Given the description of an element on the screen output the (x, y) to click on. 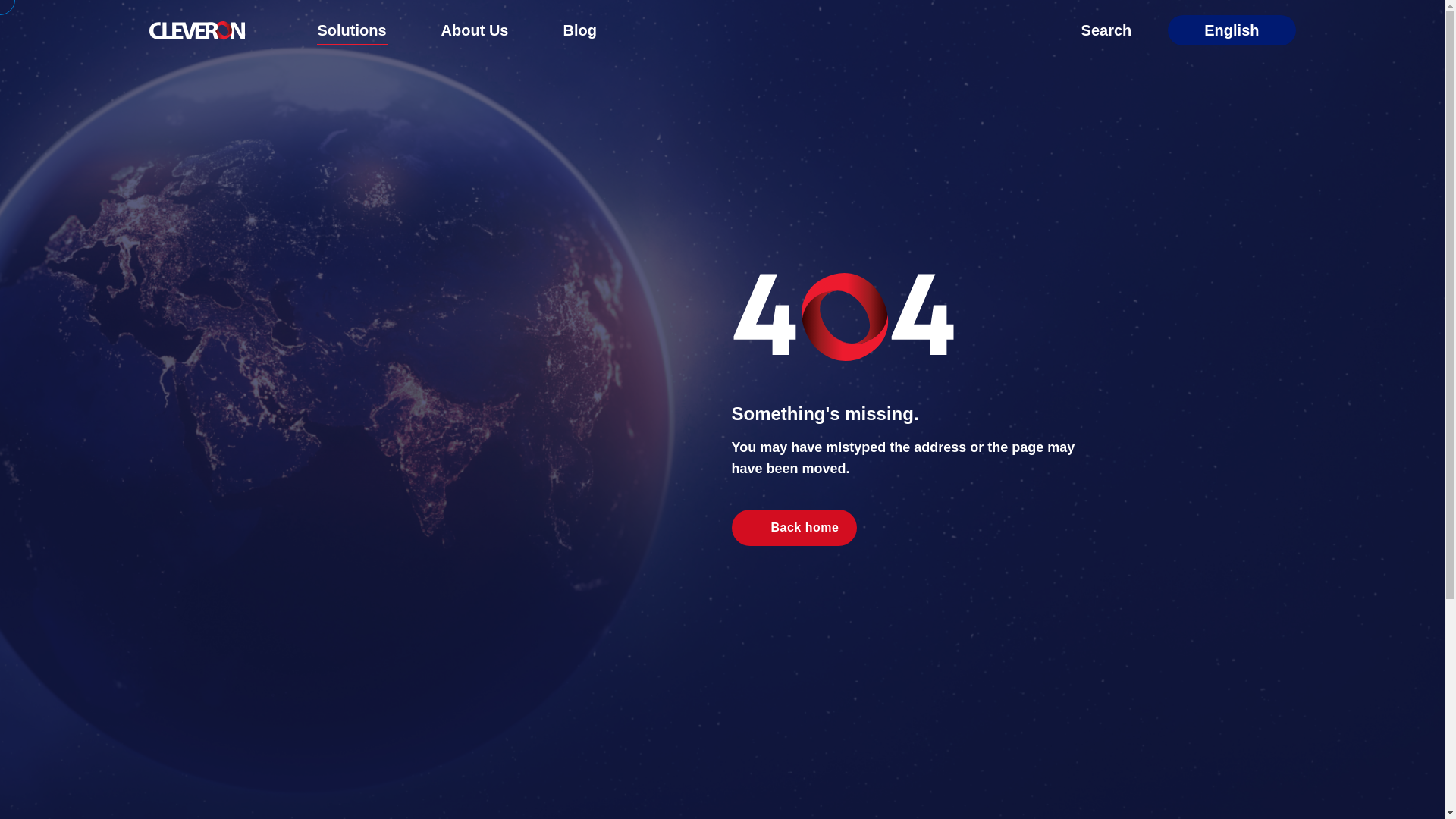
Search (1094, 30)
English (1231, 30)
